Given the description of an element on the screen output the (x, y) to click on. 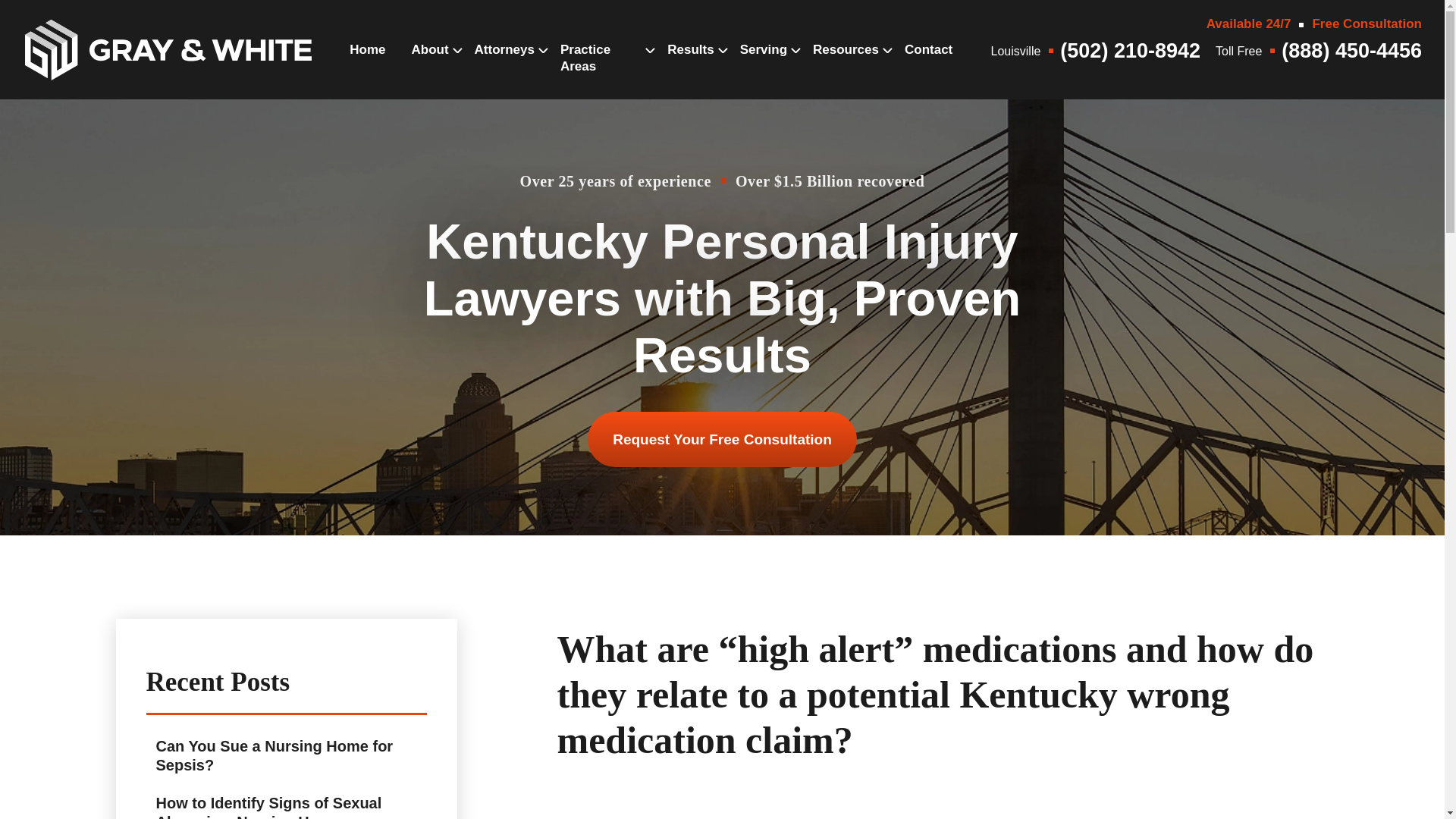
Attorneys (504, 64)
Resources (845, 64)
Practice Areas (601, 73)
Serving (763, 64)
Results (689, 64)
